Given the description of an element on the screen output the (x, y) to click on. 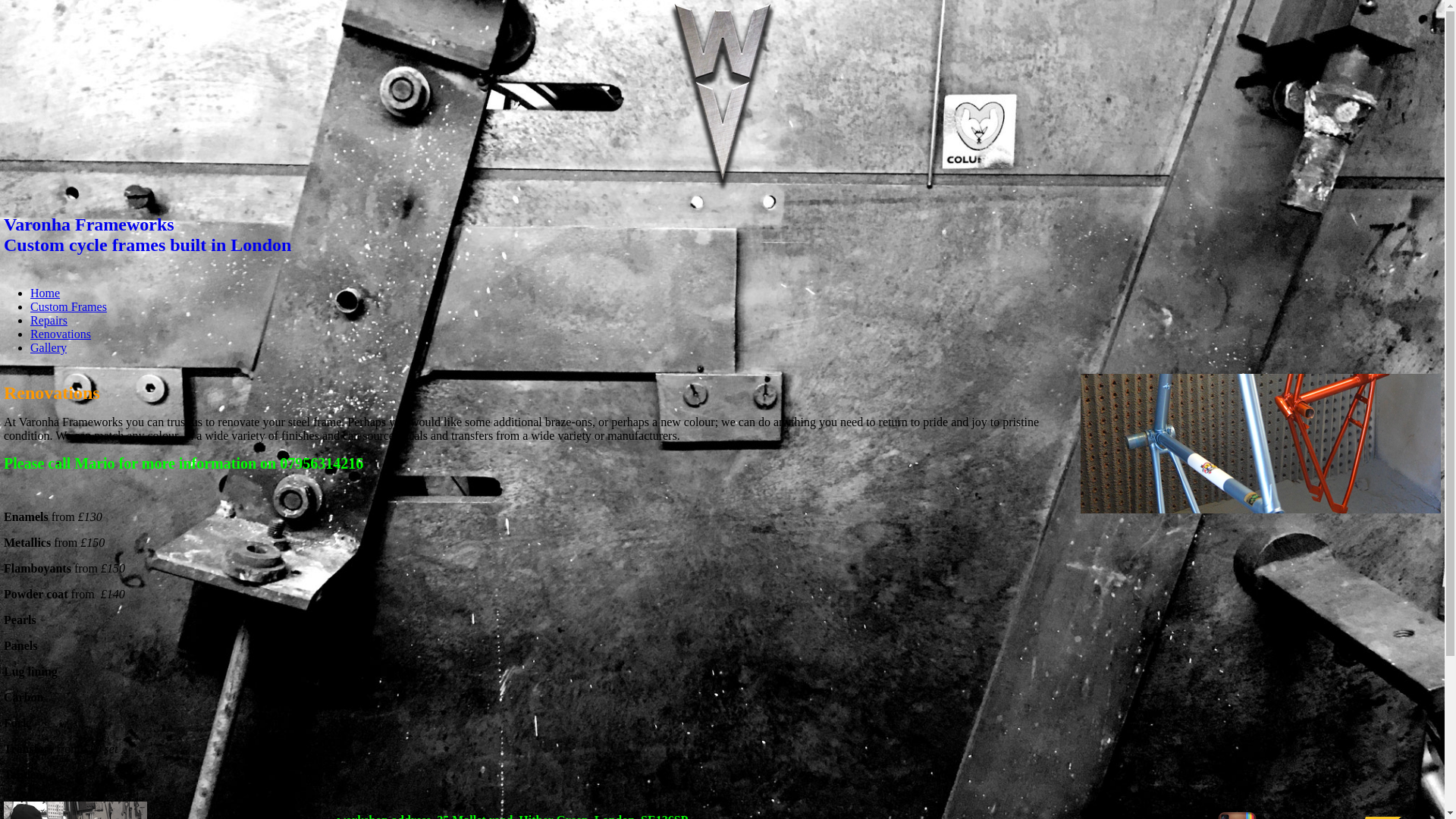
Custom Frames (68, 306)
Repairs (48, 319)
Renovations (60, 333)
Home (722, 234)
Gallery (44, 292)
